Given the description of an element on the screen output the (x, y) to click on. 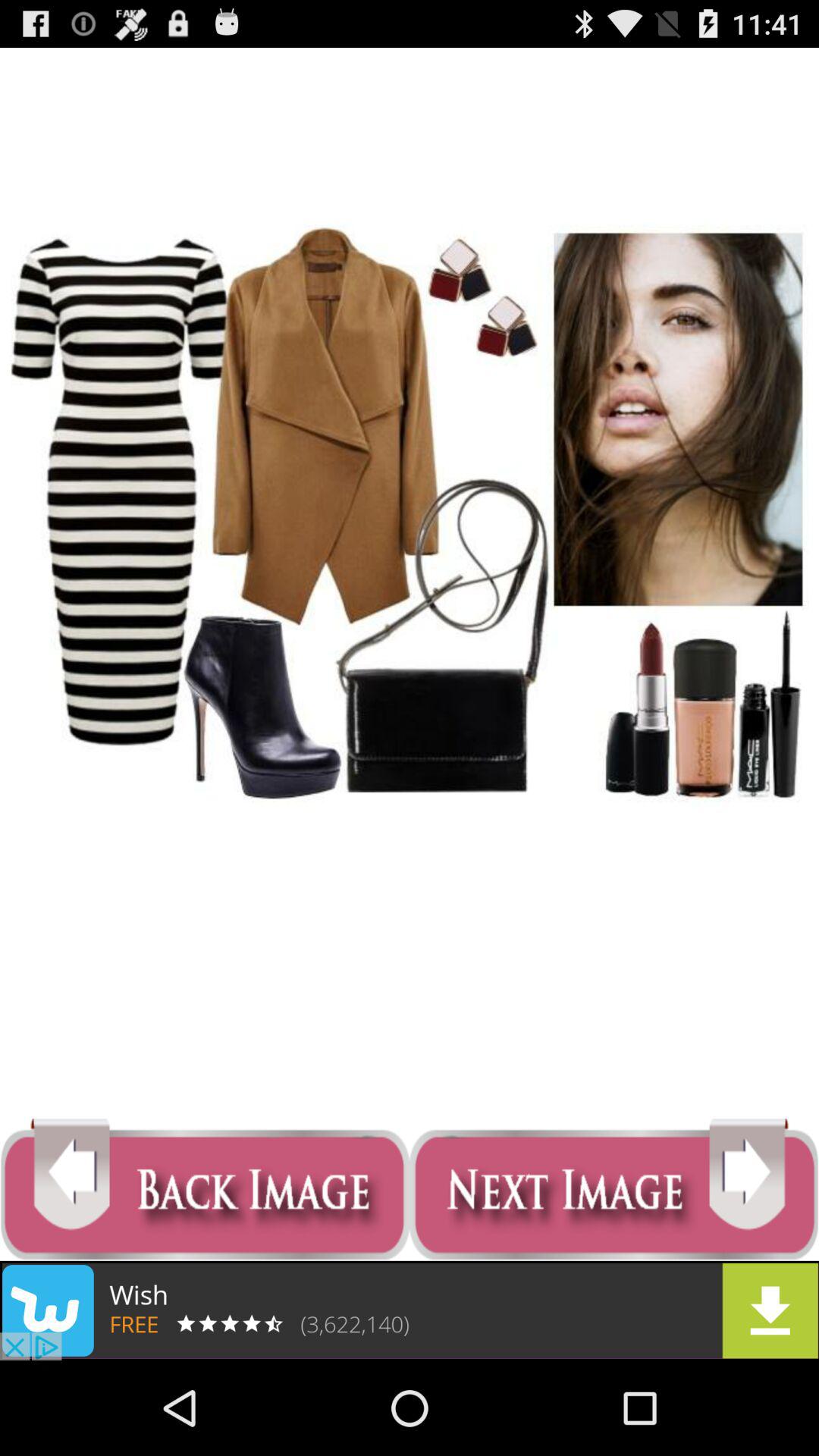
next image button (614, 1189)
